Given the description of an element on the screen output the (x, y) to click on. 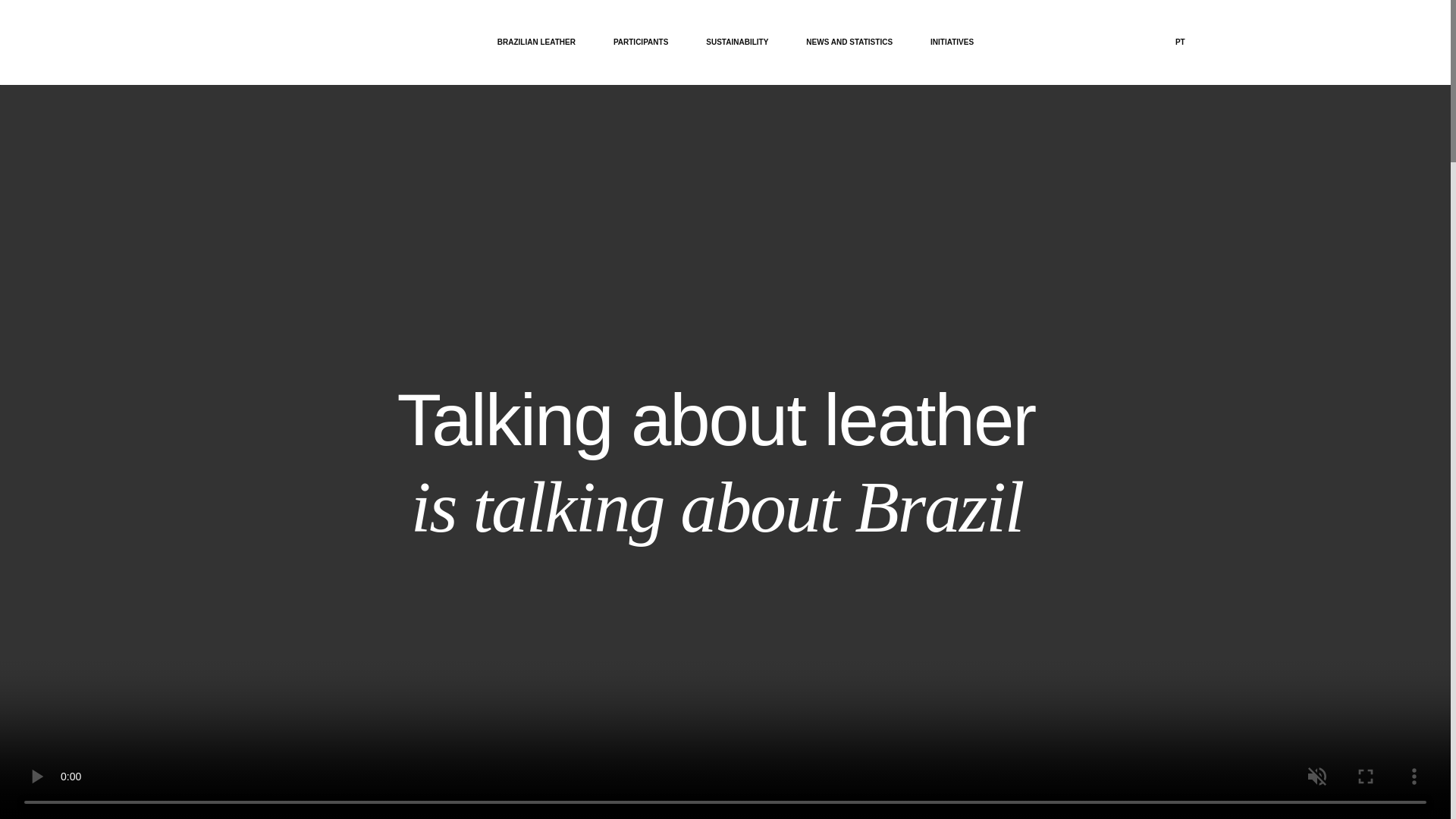
BRAZILIAN LEATHER (536, 42)
SUSTAINABILITY (737, 42)
PARTICIPANTS (640, 41)
PT (1179, 41)
NEWS AND STATISTICS (849, 42)
INITIATIVES (952, 42)
